Given the description of an element on the screen output the (x, y) to click on. 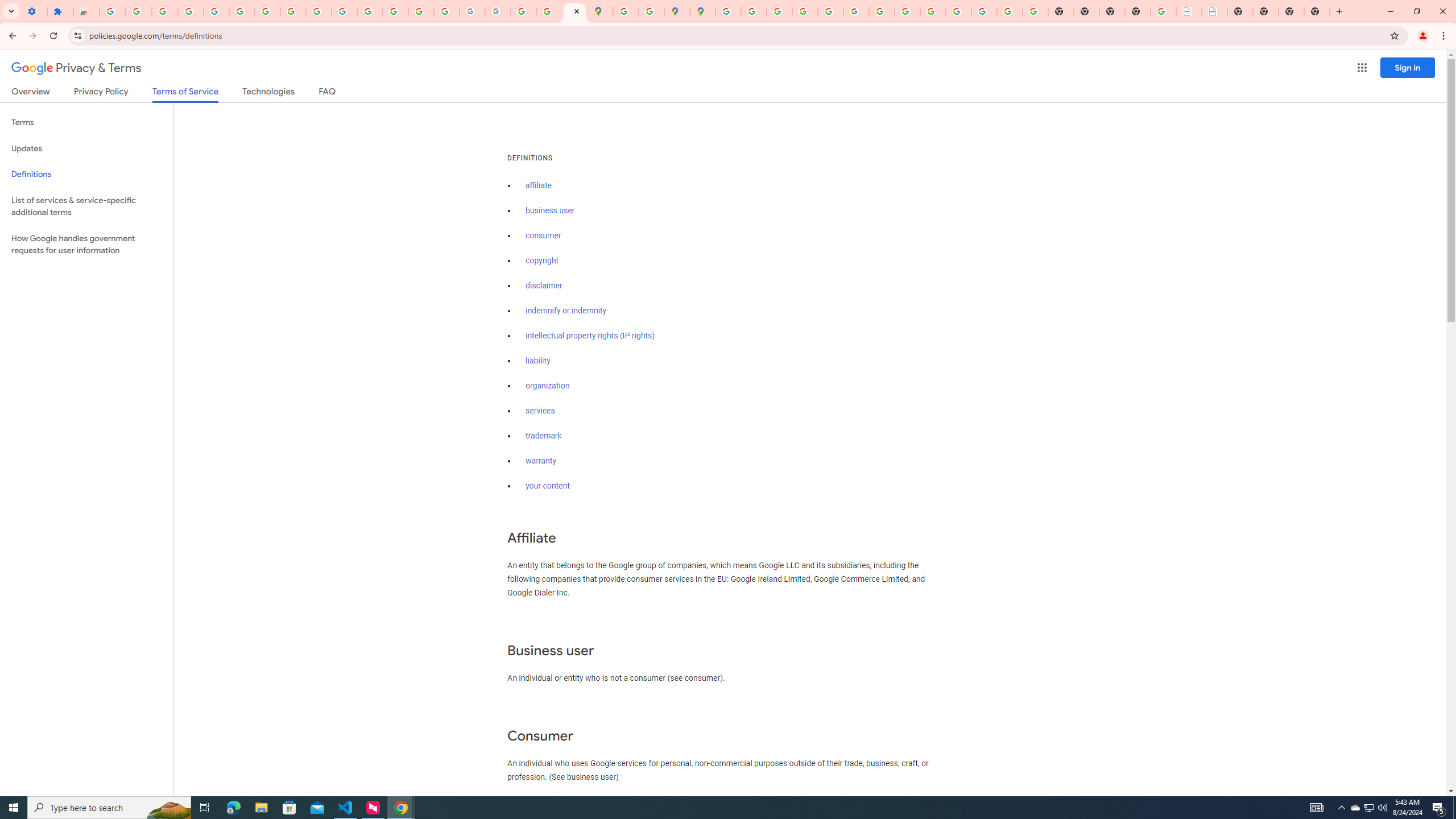
Sign in - Google Accounts (112, 11)
Google Maps (600, 11)
business user (550, 210)
BAE Systems Brasil | BAE Systems (1213, 11)
New Tab (1316, 11)
affiliate (538, 185)
https://scholar.google.com/ (369, 11)
YouTube (318, 11)
Privacy Help Center - Policies Help (779, 11)
